Given the description of an element on the screen output the (x, y) to click on. 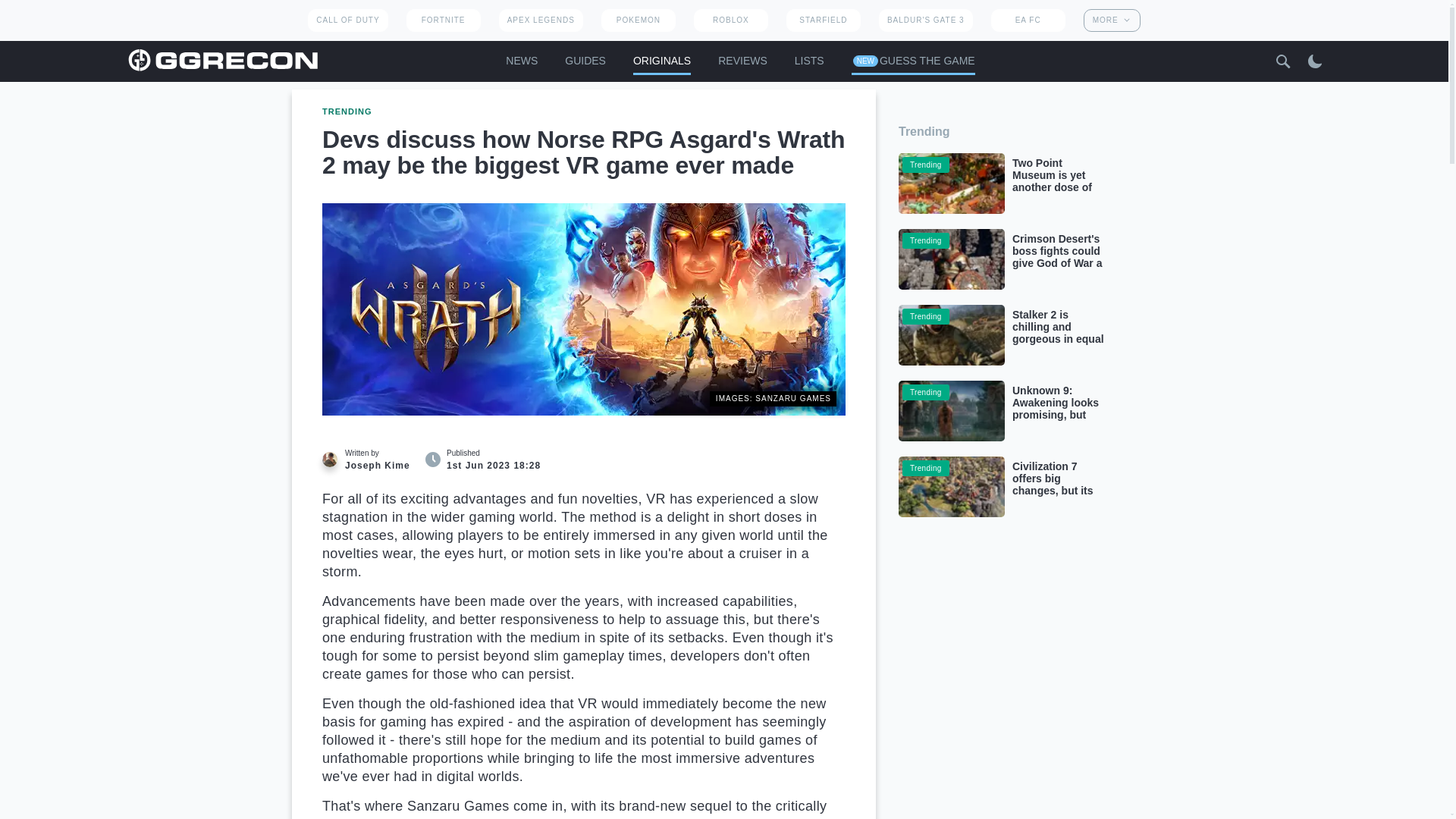
ROBLOX (731, 20)
EA FC (1028, 20)
authorlink (369, 459)
FORTNITE (443, 20)
POKEMON (638, 20)
Joseph Kime (329, 459)
BALDUR'S GATE 3 (925, 20)
MORE (1111, 20)
APEX LEGENDS (541, 20)
STARFIELD (823, 20)
